Given the description of an element on the screen output the (x, y) to click on. 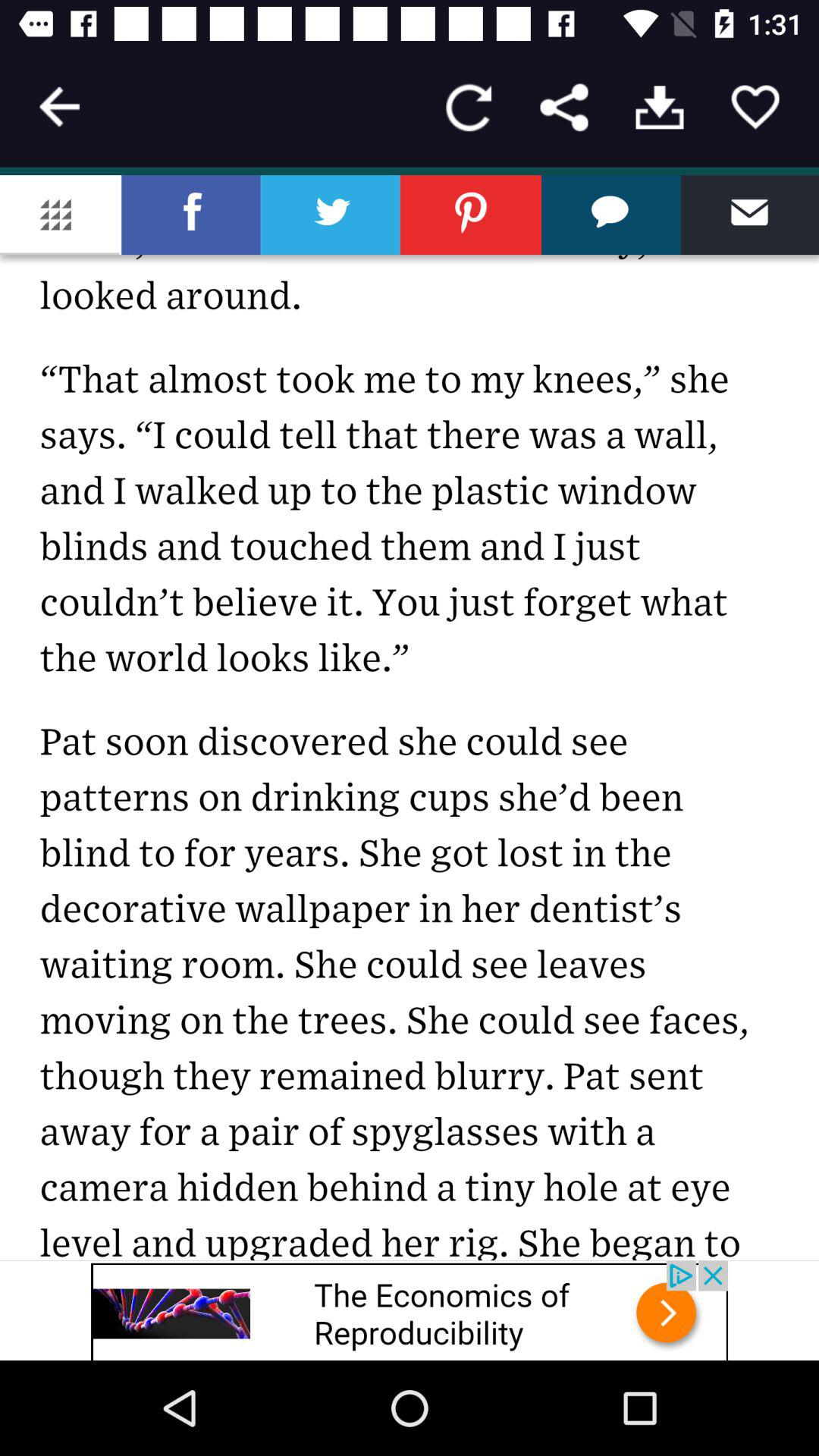
download icon (659, 107)
